Given the description of an element on the screen output the (x, y) to click on. 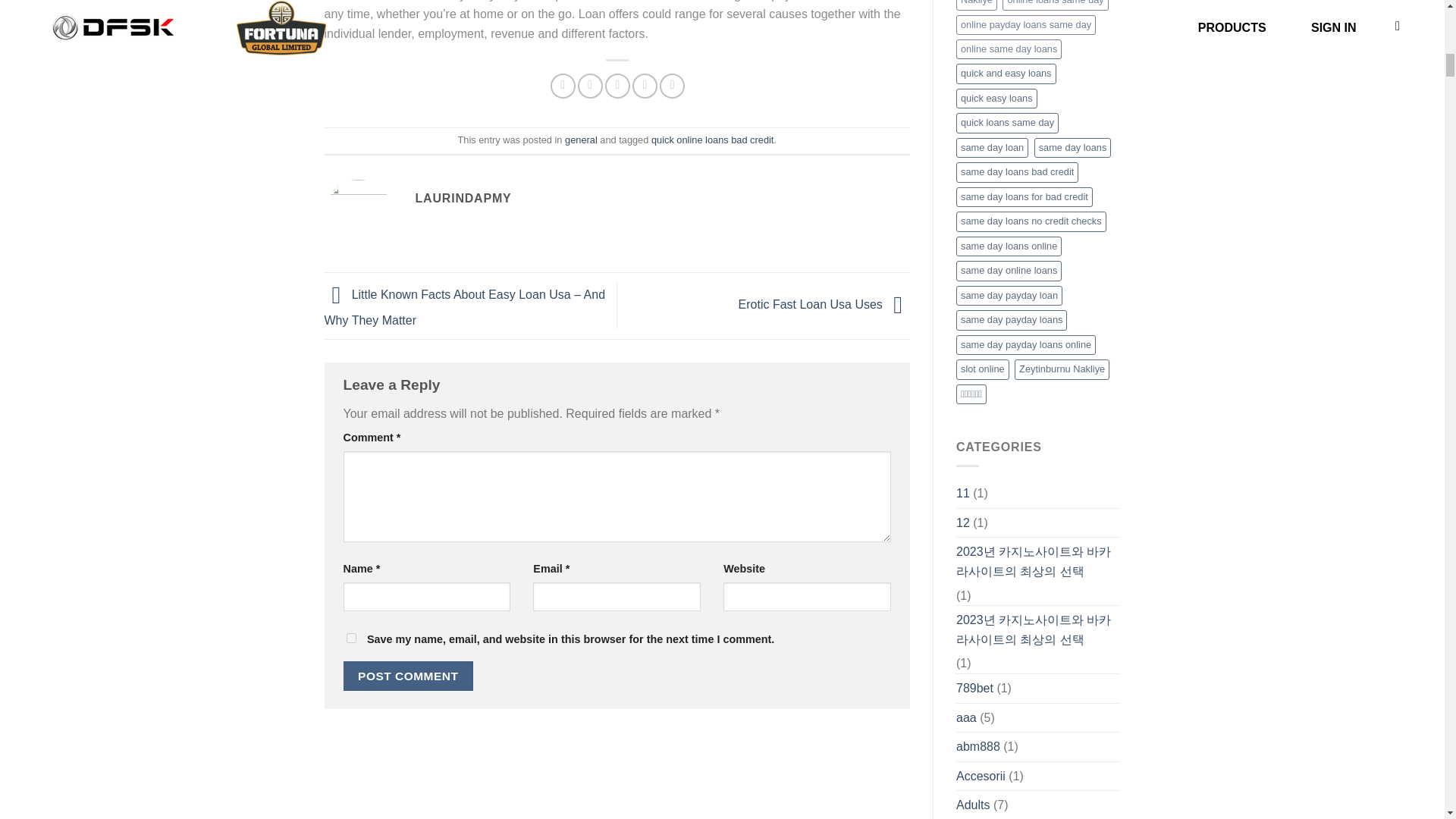
Share on LinkedIn (671, 85)
quick online loans bad credit (712, 139)
Email to a Friend (617, 85)
Post Comment (407, 675)
Post Comment (407, 675)
Pin on Pinterest (644, 85)
Share on Facebook (562, 85)
Erotic Fast Loan Usa Uses (824, 305)
general (580, 139)
Share on Twitter (590, 85)
yes (350, 637)
